Given the description of an element on the screen output the (x, y) to click on. 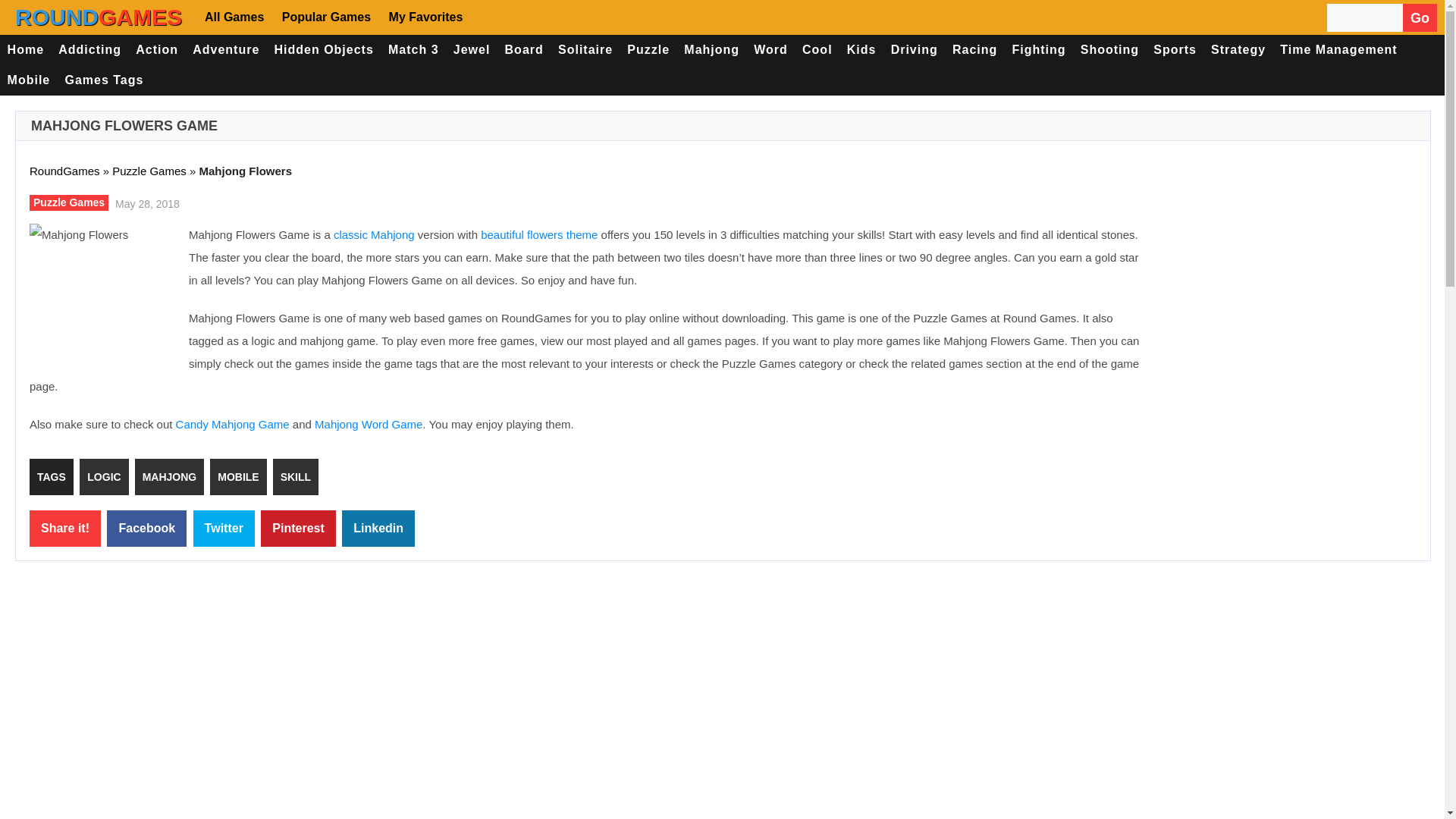
Adventure (226, 50)
Addicting (89, 50)
Hidden Objects (323, 50)
Home (25, 50)
Go (1420, 17)
Popular Games (324, 16)
Our YouTube Channel (583, 17)
Follow us on Facebook (492, 17)
My Favorites (424, 16)
Play Free Online Games No Downloads at RoundGames (98, 17)
ROUNDGAMES (98, 17)
Follow us on Twitter (536, 17)
Action (157, 50)
Match 3 (412, 50)
All Games (237, 16)
